Given the description of an element on the screen output the (x, y) to click on. 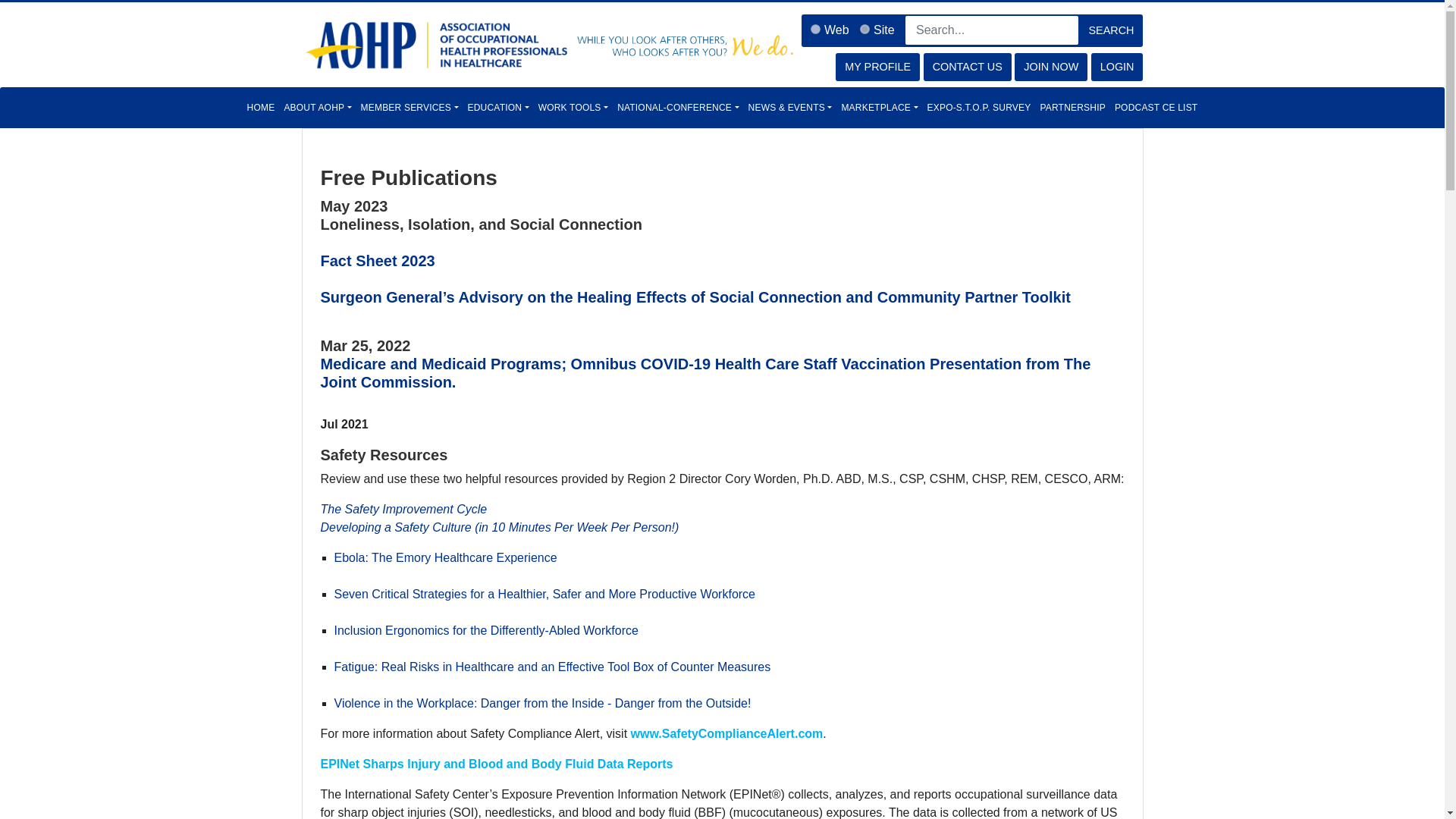
MY PROFILE (877, 67)
LOGIN (1116, 67)
JOIN NOW (1050, 67)
SiteRadioButton (864, 29)
WebRadioButton (815, 29)
Google Web Search (833, 29)
Clear search text (1061, 55)
ABOUT AOHP (317, 107)
Site Search (881, 29)
CONTACT US (967, 67)
